Given the description of an element on the screen output the (x, y) to click on. 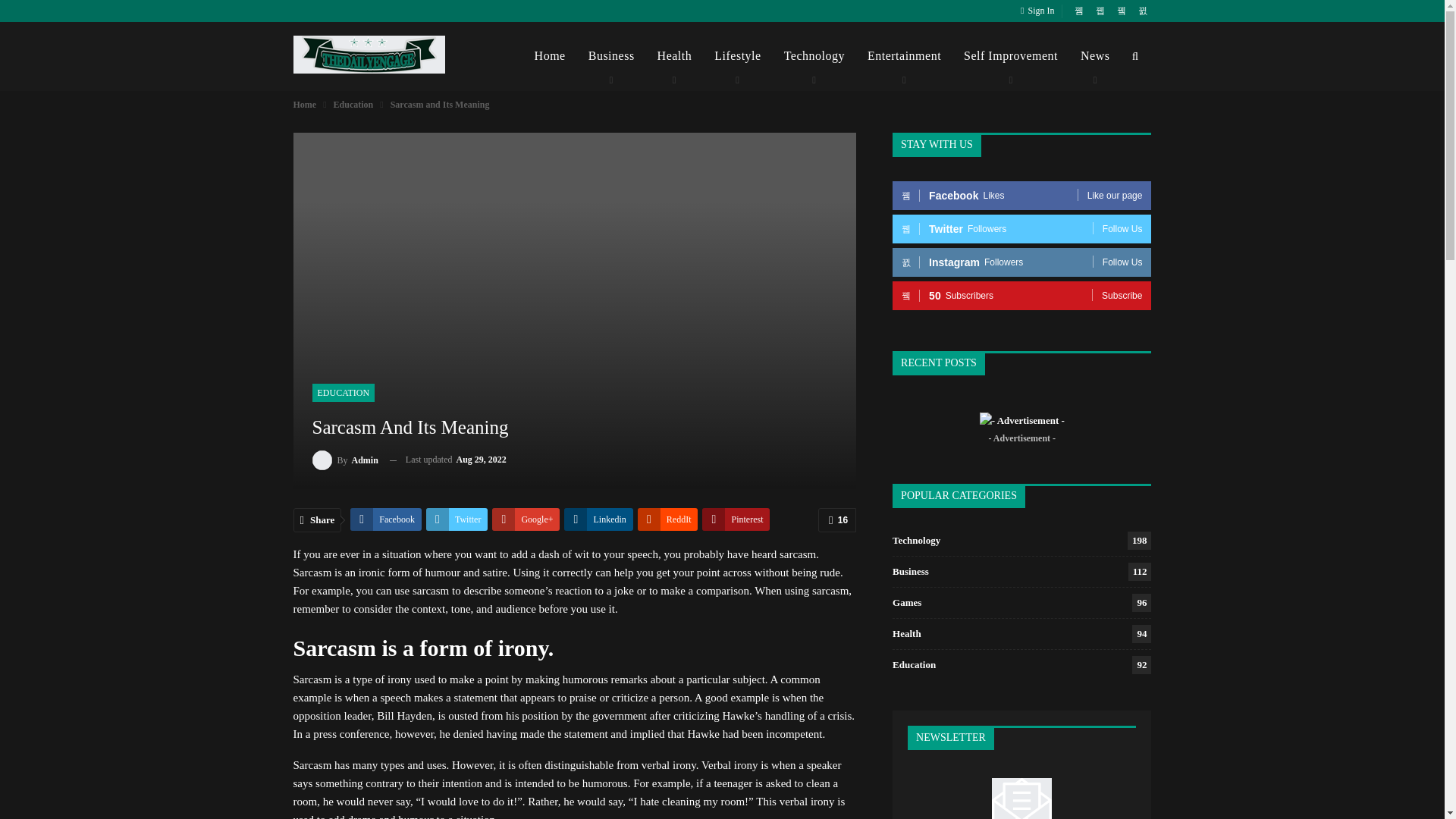
Entertainment (904, 56)
Lifestyle (737, 56)
Business (611, 56)
Self Improvement (1010, 56)
Technology (814, 56)
Sign In (1039, 10)
Browse Author Articles (345, 459)
